Given the description of an element on the screen output the (x, y) to click on. 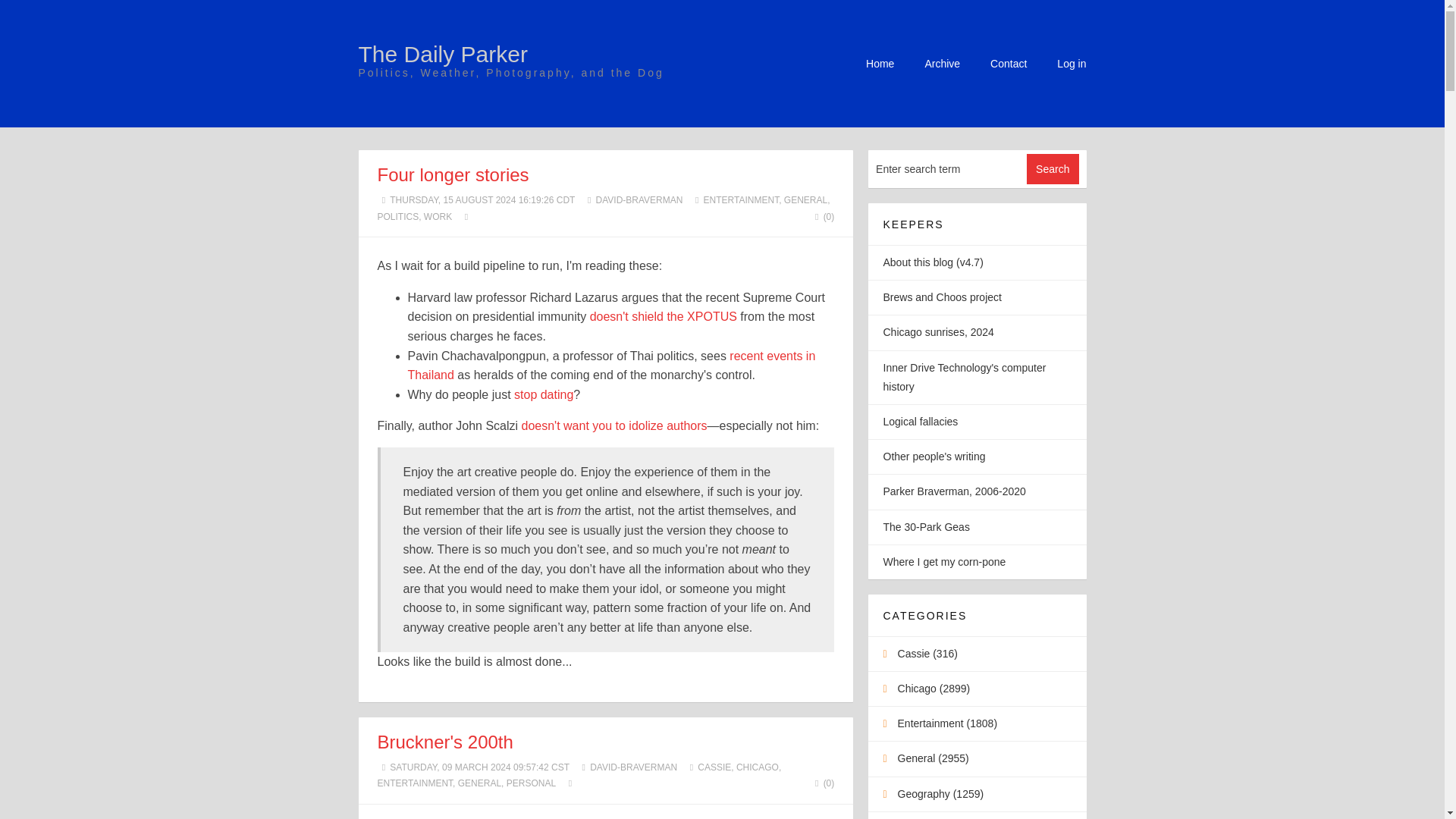
Archive (941, 63)
Enter search term (947, 168)
PERSONAL (531, 783)
WORK (437, 216)
doesn't shield the XPOTUS (662, 316)
Contact (1008, 63)
doesn't want you to idolize authors (614, 425)
POLITICS (398, 216)
CASSIE (713, 767)
Four longer stories (453, 174)
